Given the description of an element on the screen output the (x, y) to click on. 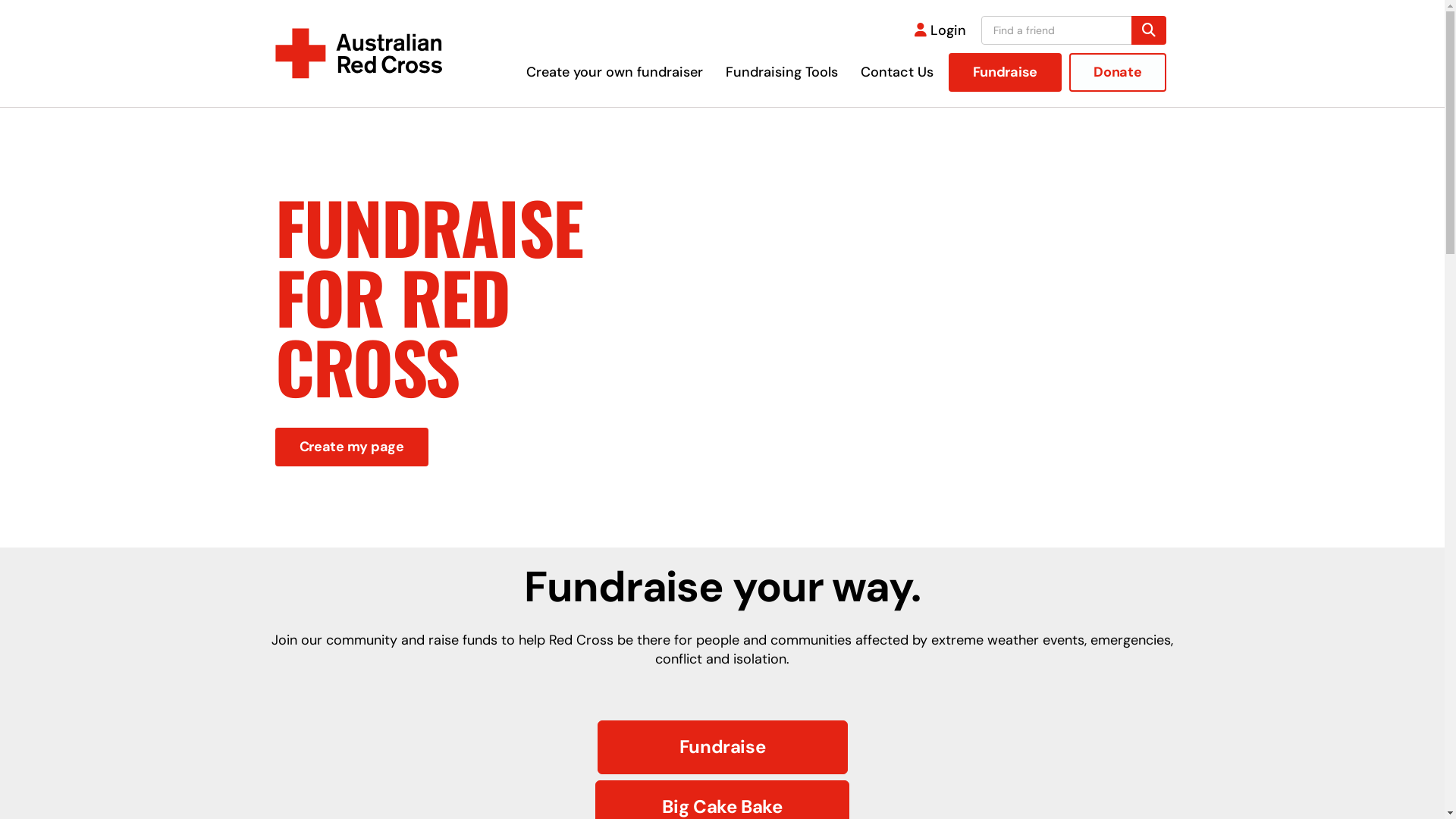
Create my page Element type: text (350, 446)
Login Element type: text (940, 30)
Donate Element type: text (1117, 72)
Fundraising Tools Element type: text (781, 72)
Fundraise Element type: text (1005, 72)
Contact Us Element type: text (896, 72)
Create your own fundraiser Element type: text (614, 72)
